Given the description of an element on the screen output the (x, y) to click on. 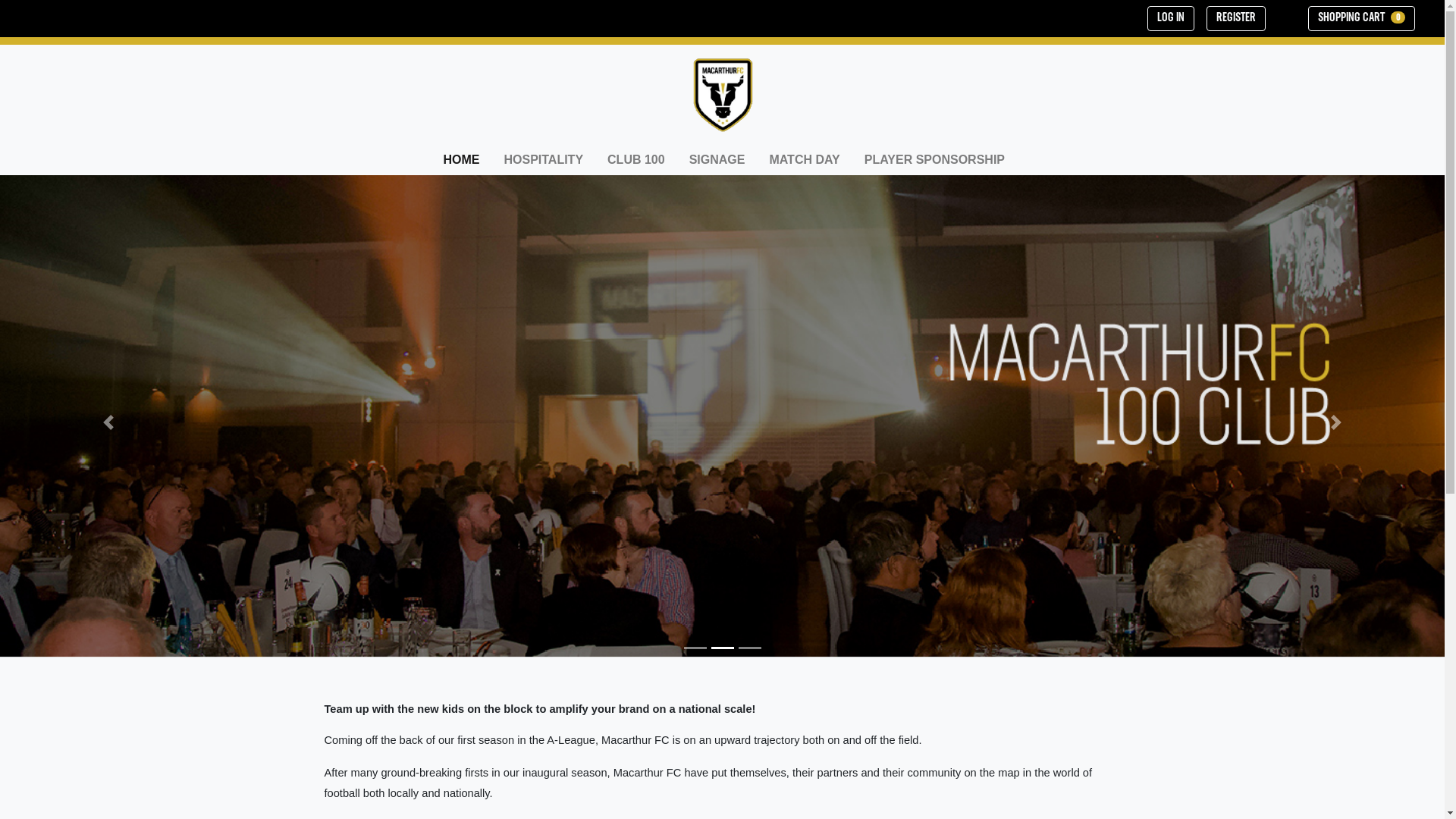
HOSPITALITY Element type: text (543, 159)
Previous Element type: text (108, 421)
SHOPPING CART0 Element type: text (1361, 18)
REGISTER Element type: text (1235, 18)
SIGNAGE Element type: text (717, 159)
MATCH DAY Element type: text (803, 159)
Next Element type: text (1335, 421)
LOG IN Element type: text (1170, 18)
CLUB 100 Element type: text (636, 159)
HOME Element type: text (460, 159)
PLAYER SPONSORSHIP Element type: text (934, 159)
